Given the description of an element on the screen output the (x, y) to click on. 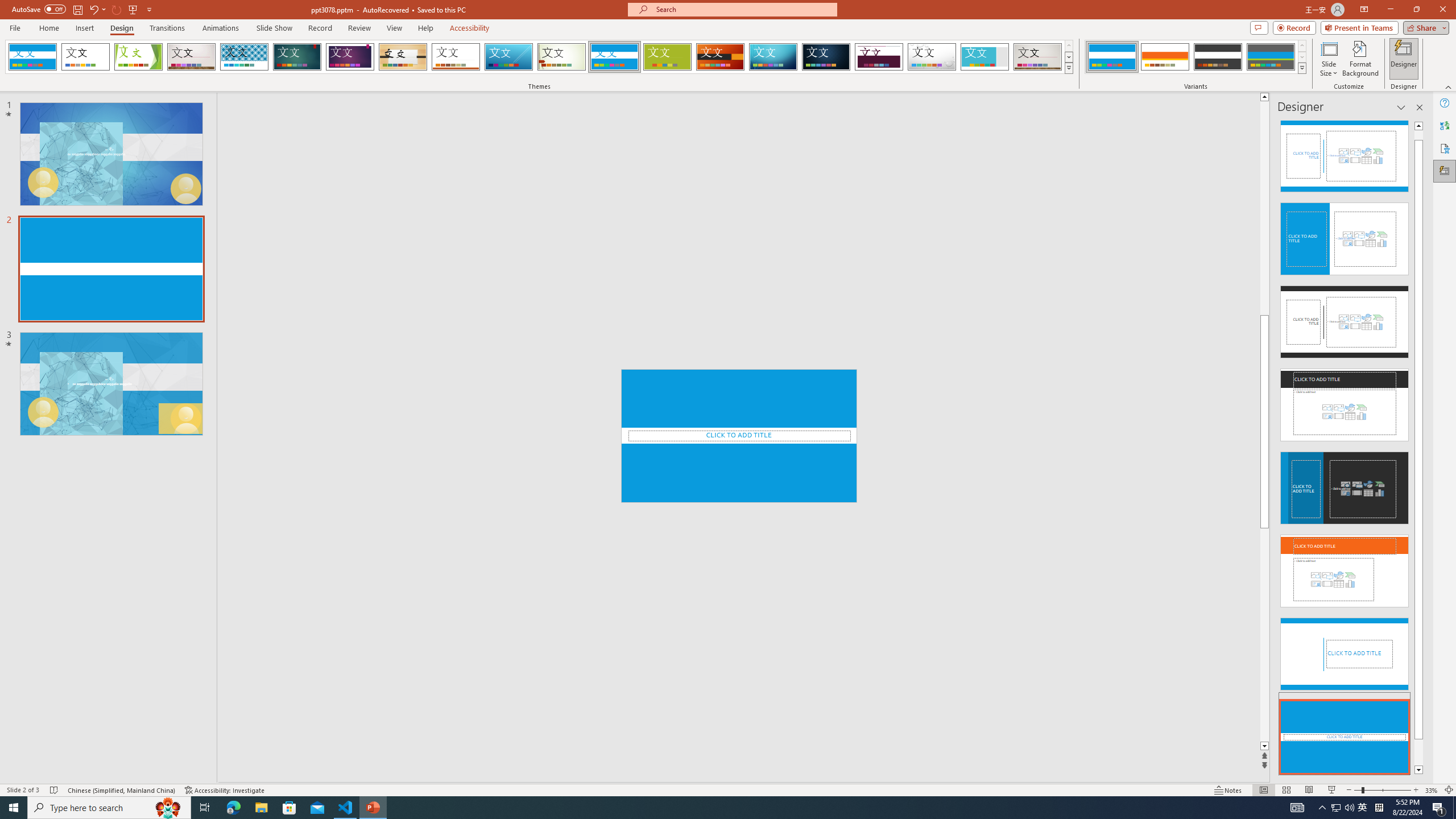
Frame (984, 56)
Droplet (931, 56)
Banded Variant 4 (1270, 56)
Format Background (1360, 58)
